Given the description of an element on the screen output the (x, y) to click on. 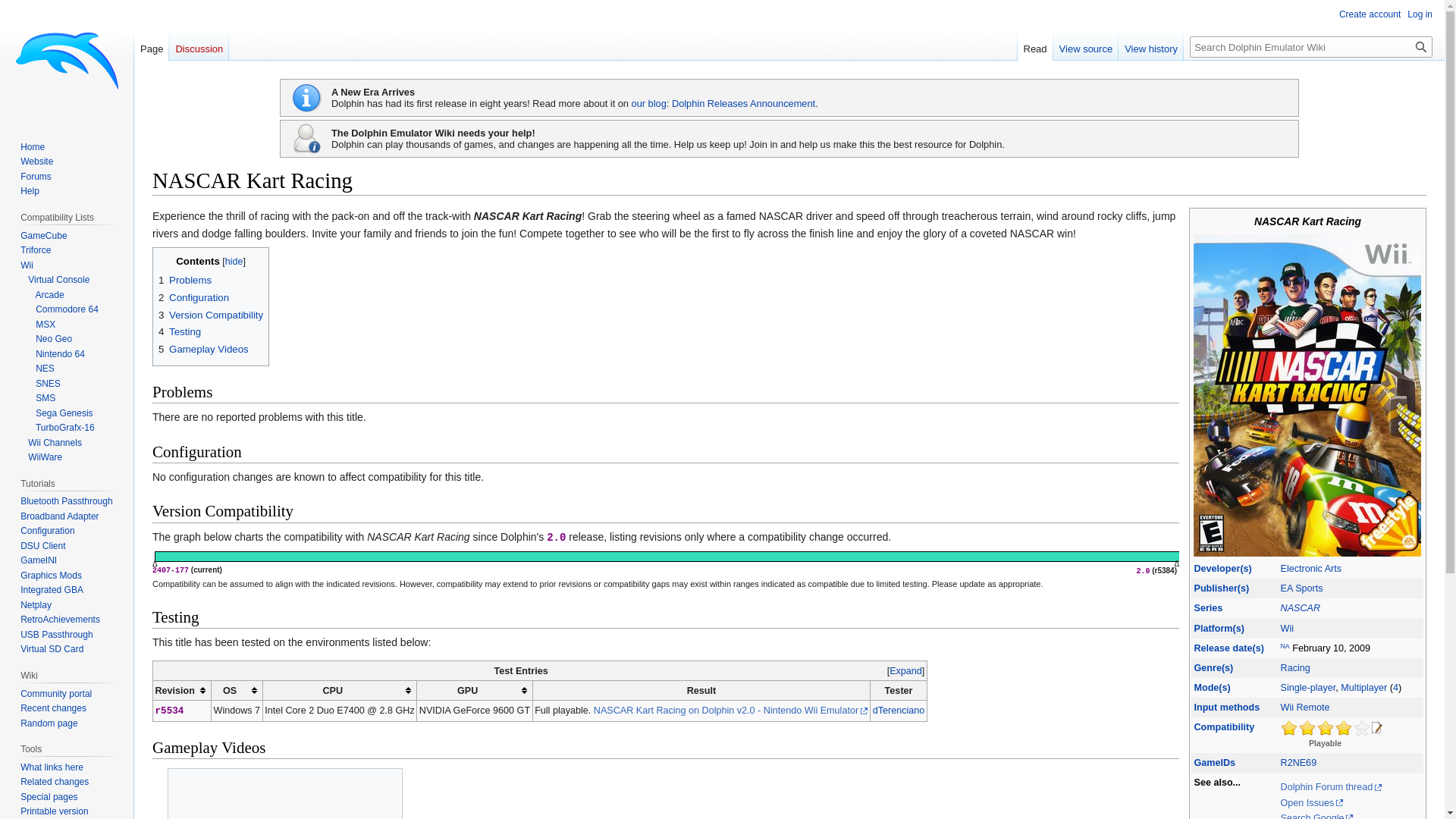
our blog (648, 102)
Wii (1287, 628)
Multiplayer (1363, 687)
Search (1420, 46)
Category:Game mode (1211, 687)
NASCAR (1300, 607)
3 Version Compatibility (210, 315)
Category:Initial release year (1228, 647)
5 Gameplay Videos (203, 348)
NA (1285, 645)
